Given the description of an element on the screen output the (x, y) to click on. 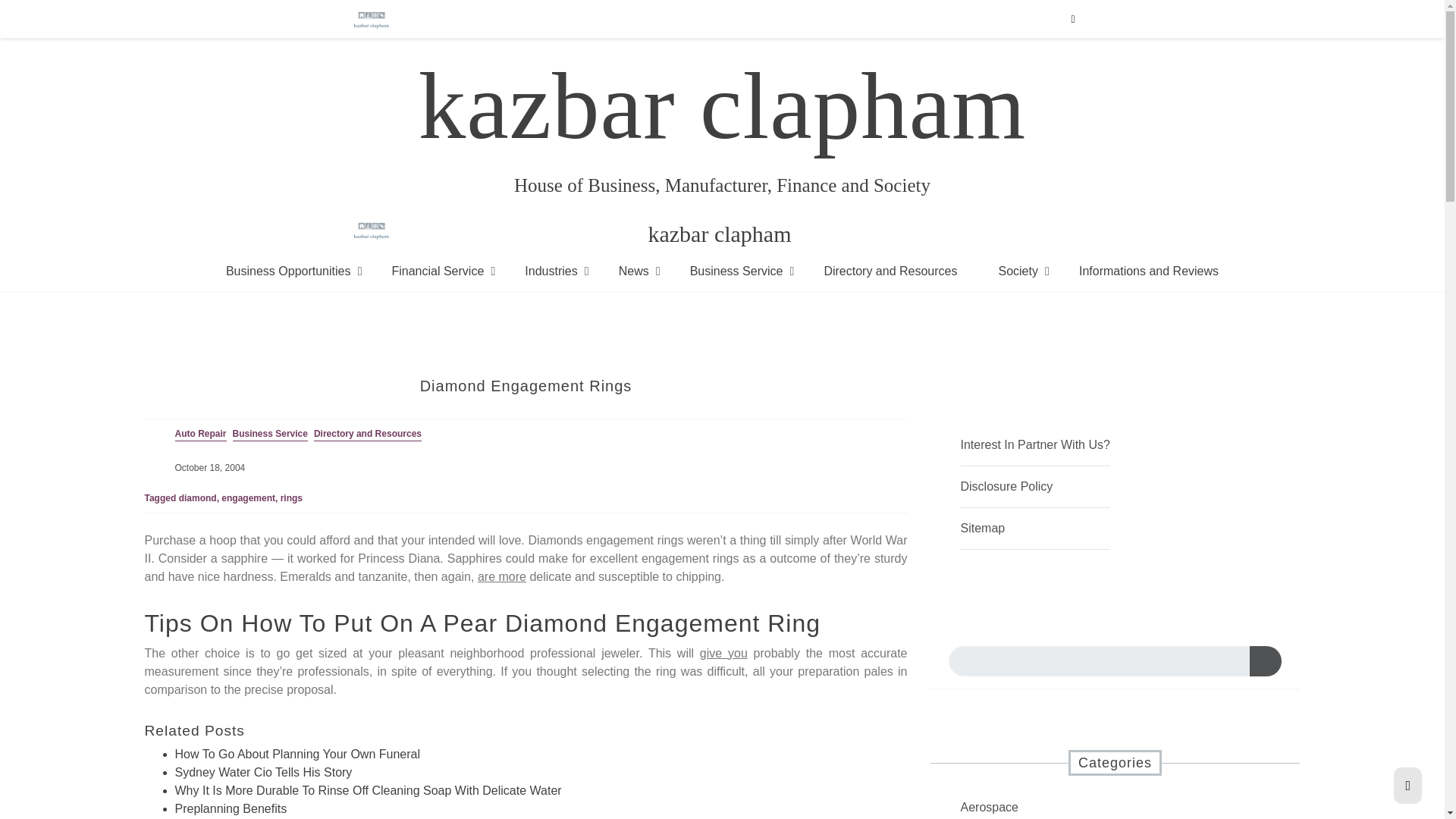
Financial Service (437, 270)
Business Opportunities (288, 270)
